Given the description of an element on the screen output the (x, y) to click on. 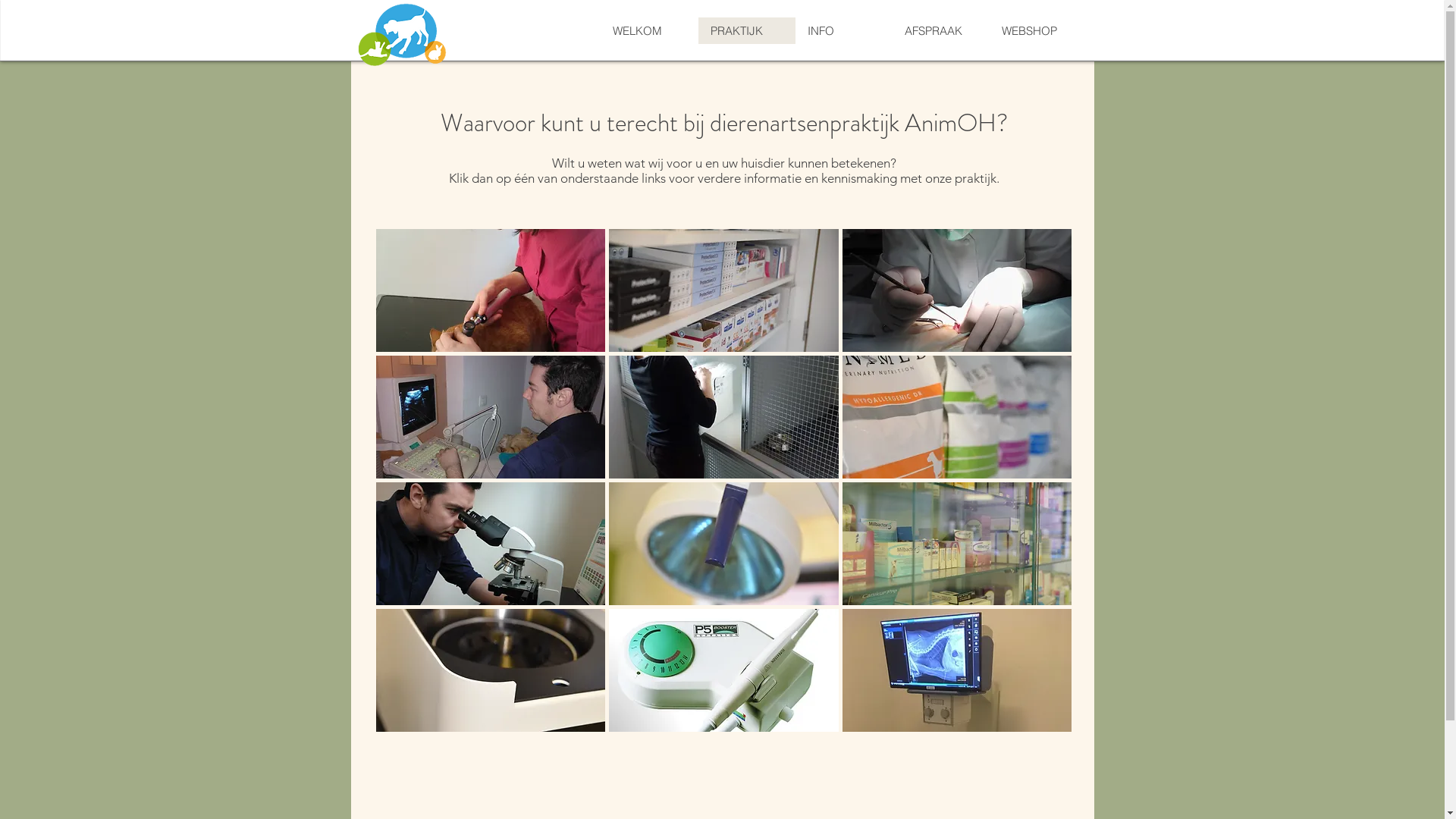
WEBSHOP Element type: text (1036, 30)
WELKOM Element type: text (648, 30)
INFO Element type: text (842, 30)
PRAKTIJK Element type: text (745, 30)
AFSPRAAK Element type: text (939, 30)
